Given the description of an element on the screen output the (x, y) to click on. 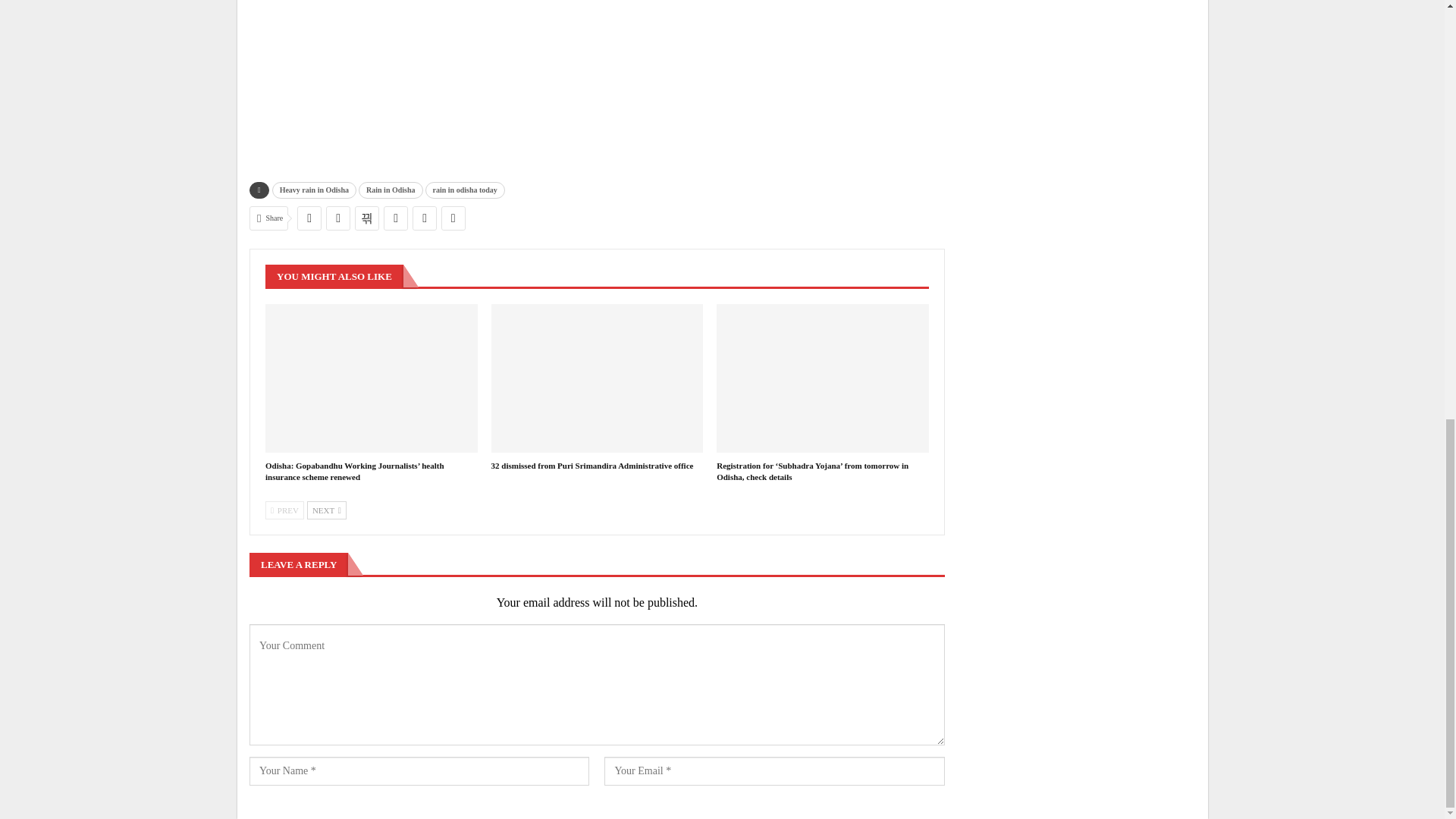
Next (326, 510)
rain in odisha today (465, 190)
YOU MIGHT ALSO LIKE (333, 275)
Rain in Odisha (390, 190)
Previous (284, 510)
32 dismissed from Puri Srimandira Administrative office (593, 465)
Heavy rain in Odisha (314, 190)
32 dismissed from Puri Srimandira Administrative office (597, 377)
